Given the description of an element on the screen output the (x, y) to click on. 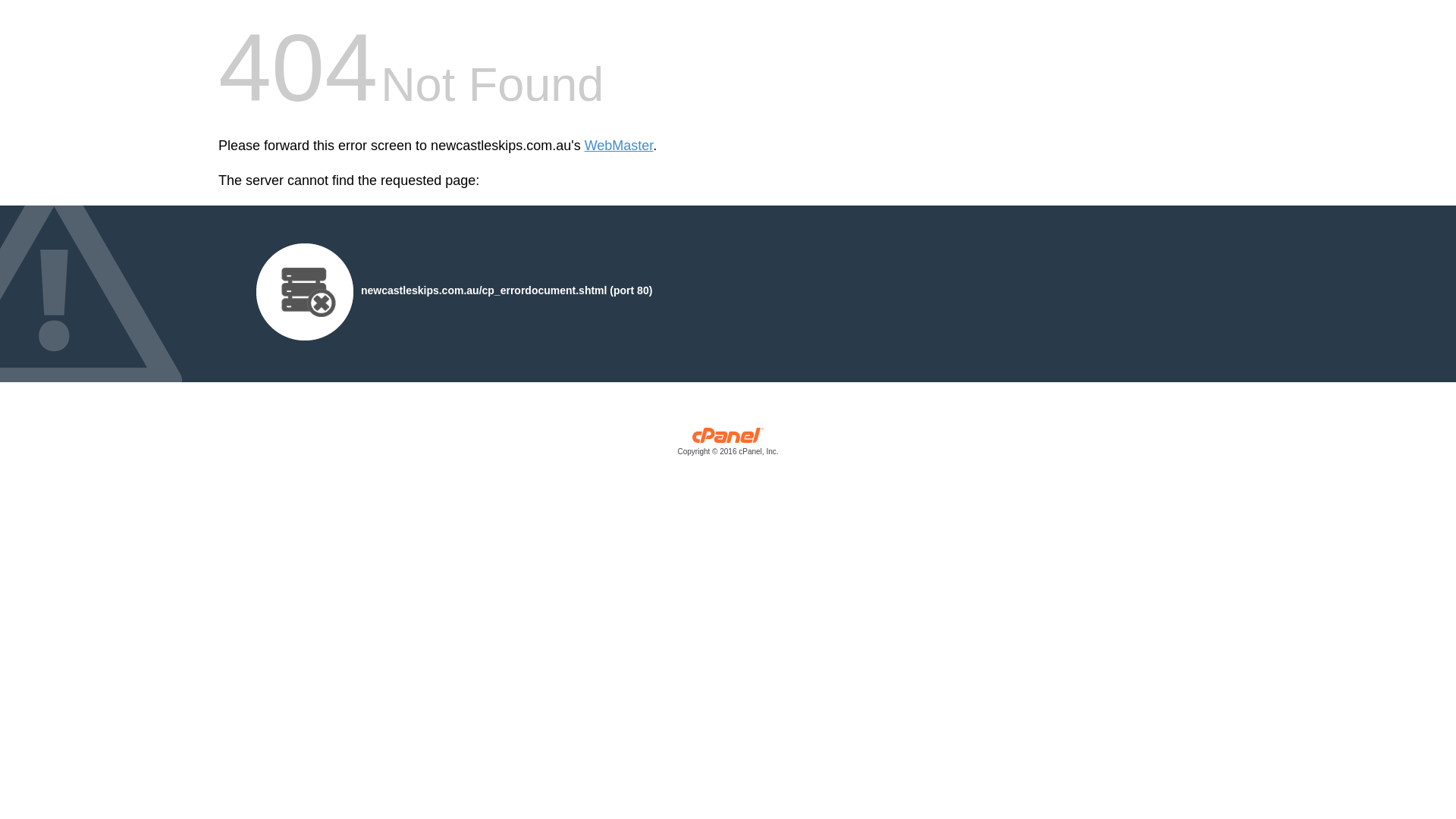
WebMaster Element type: text (618, 145)
